Given the description of an element on the screen output the (x, y) to click on. 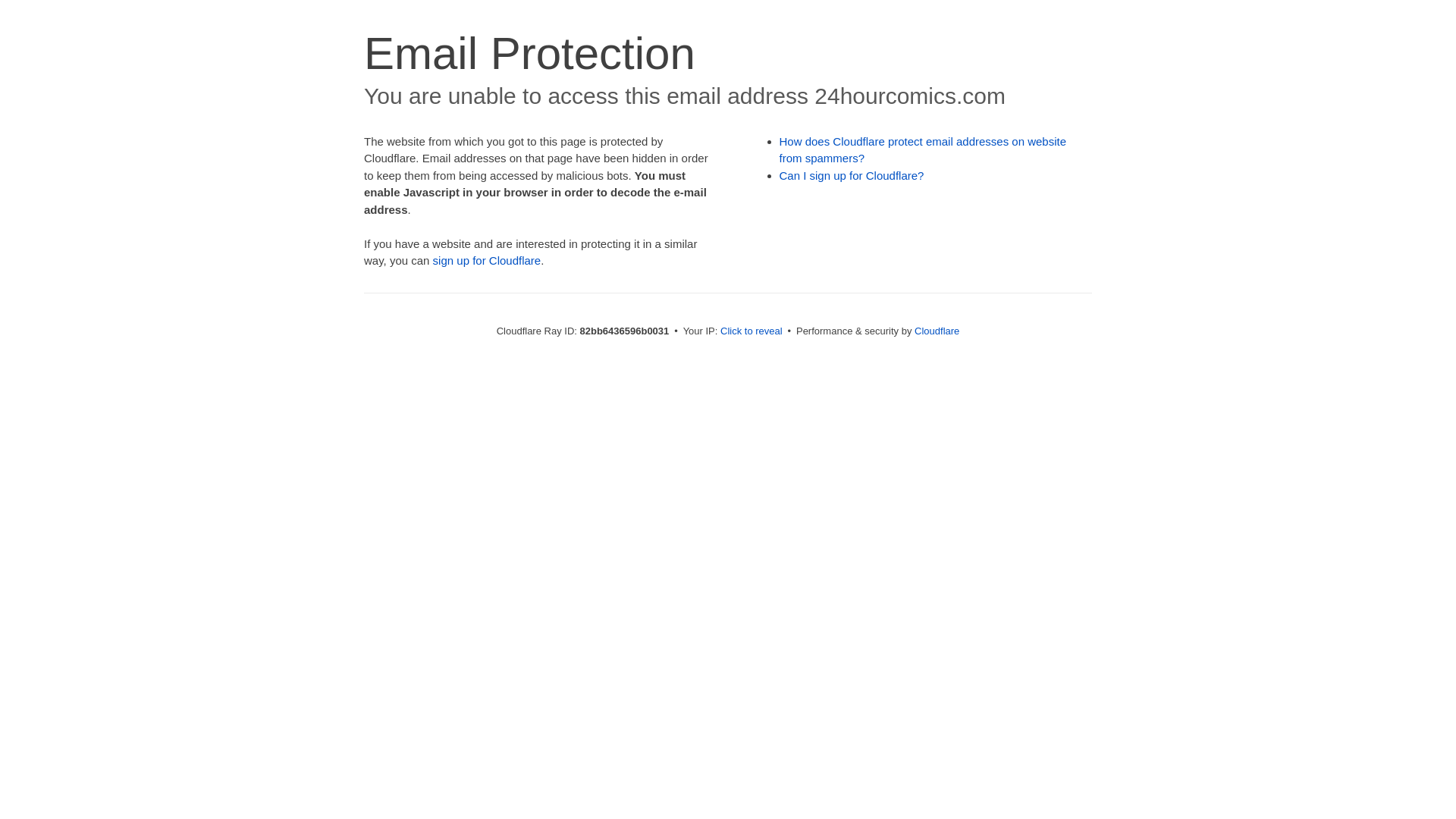
Cloudflare Element type: text (936, 330)
sign up for Cloudflare Element type: text (487, 260)
Can I sign up for Cloudflare? Element type: text (851, 175)
Click to reveal Element type: text (751, 330)
